Given the description of an element on the screen output the (x, y) to click on. 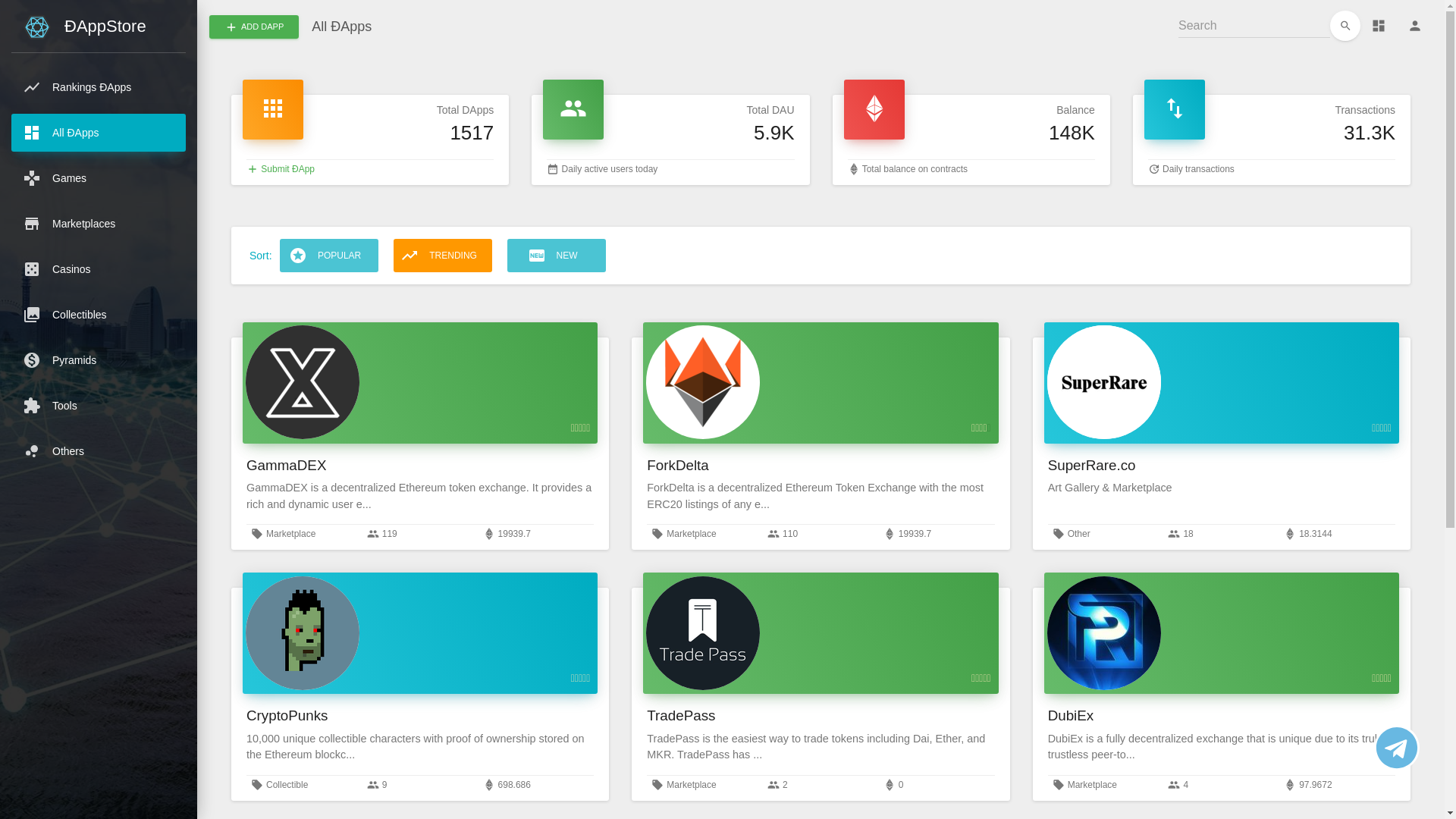
Marketplace Element type: text (1092, 784)
Games Element type: text (98, 178)
Marketplace Element type: text (690, 533)
Marketplaces Element type: text (98, 223)
Others Element type: text (98, 451)
Casinos Element type: text (98, 269)
TRENDING Element type: text (442, 255)
Collectibles Element type: text (98, 314)
Marketplace Element type: text (290, 533)
ADD DAPP Element type: text (253, 26)
Tools Element type: text (98, 405)
Other Element type: text (1078, 533)
NEW Element type: text (556, 255)
POPULAR Element type: text (328, 255)
Marketplace Element type: text (690, 784)
Collectible Element type: text (286, 784)
Pyramids Element type: text (98, 360)
